Given the description of an element on the screen output the (x, y) to click on. 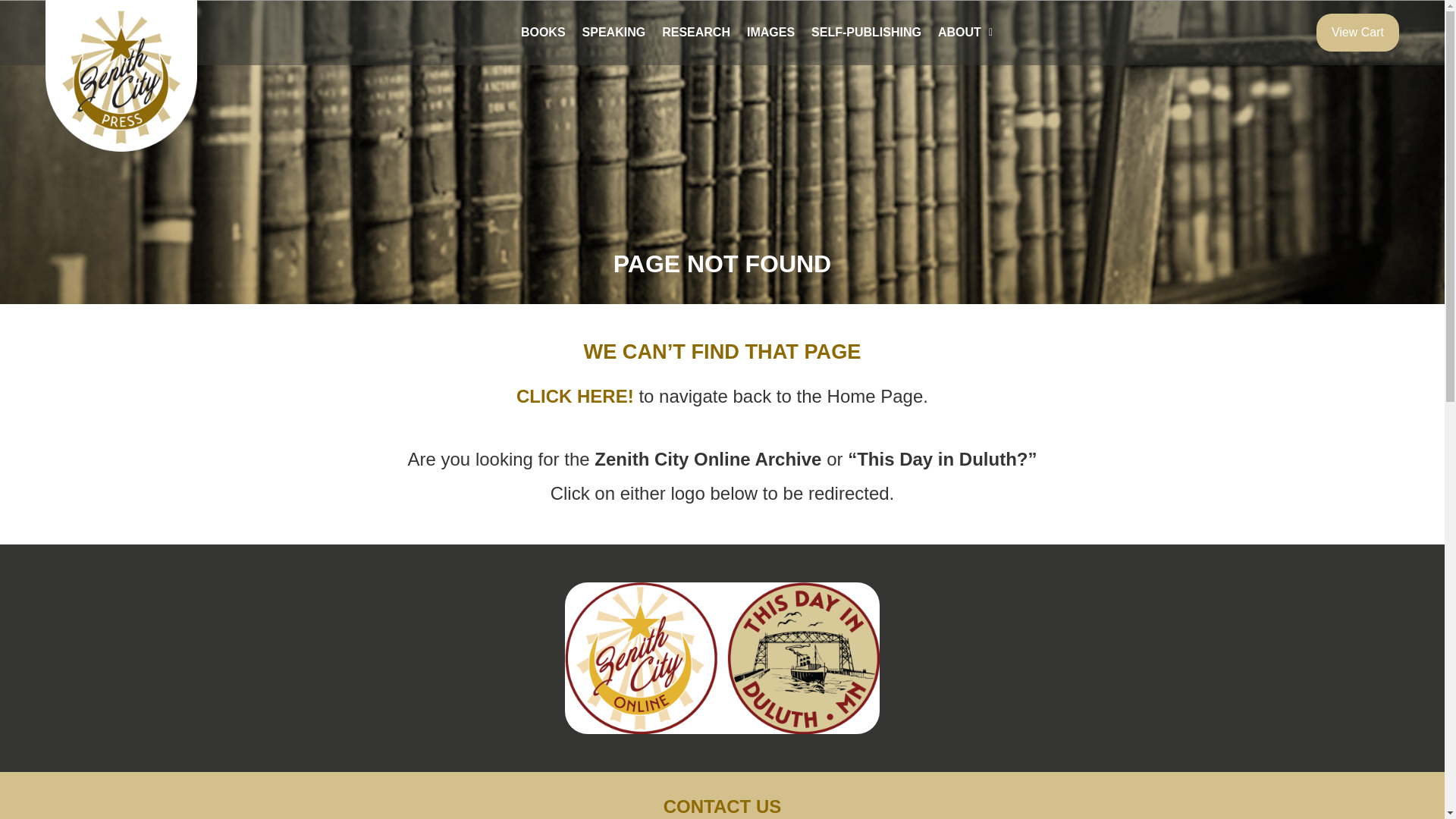
ABOUT (965, 32)
RESEARCH (695, 32)
SELF-PUBLISHING (866, 32)
CLICK HERE! (577, 395)
Page 7 (721, 476)
View Cart (1357, 32)
IMAGES (770, 32)
SPEAKING (613, 32)
BOOKS (542, 32)
